Given the description of an element on the screen output the (x, y) to click on. 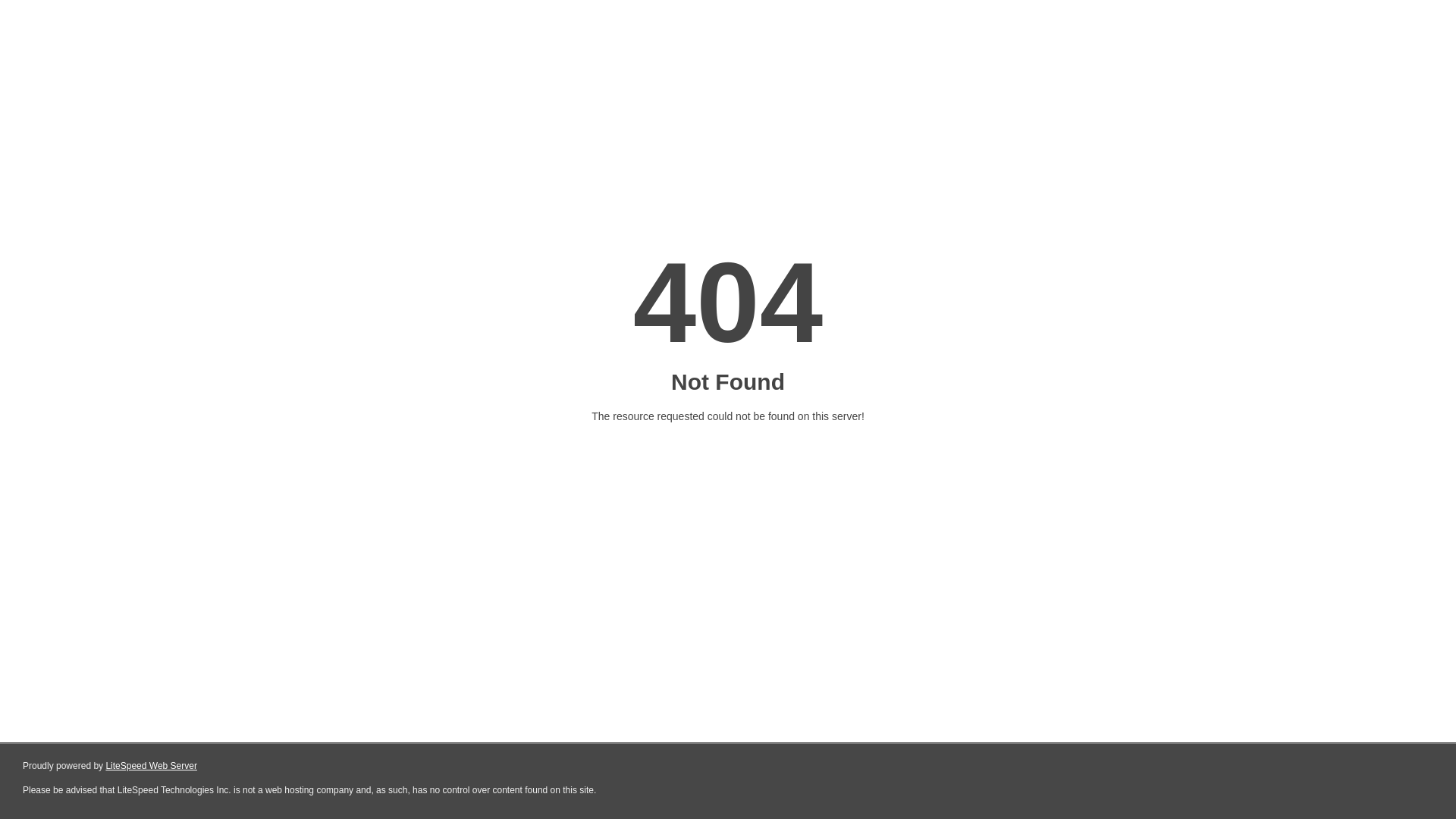
LiteSpeed Web Server Element type: text (151, 765)
